Given the description of an element on the screen output the (x, y) to click on. 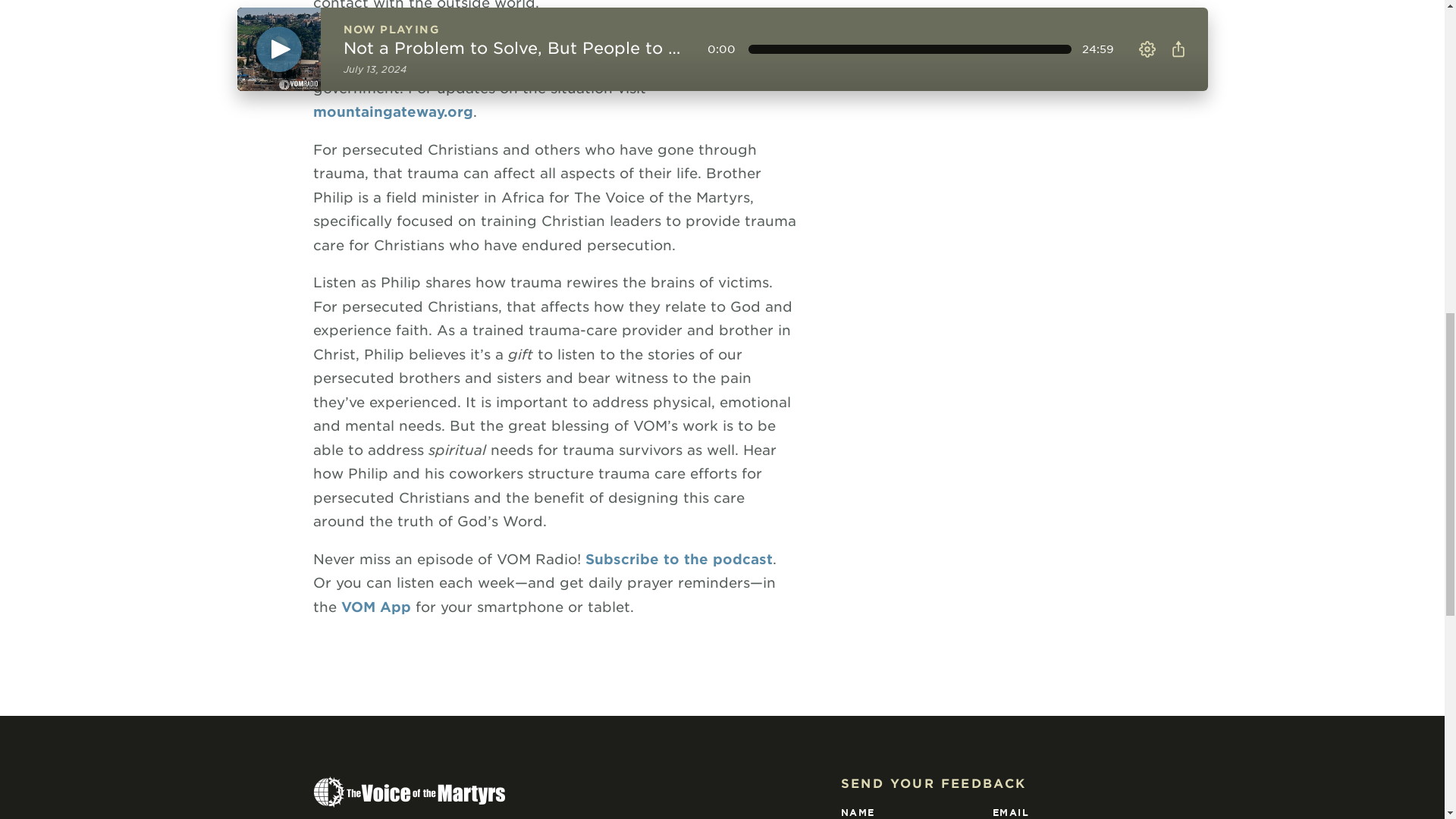
Subscribe to the podcast (679, 558)
mountaingateway.org (392, 111)
VOM App (375, 606)
